Given the description of an element on the screen output the (x, y) to click on. 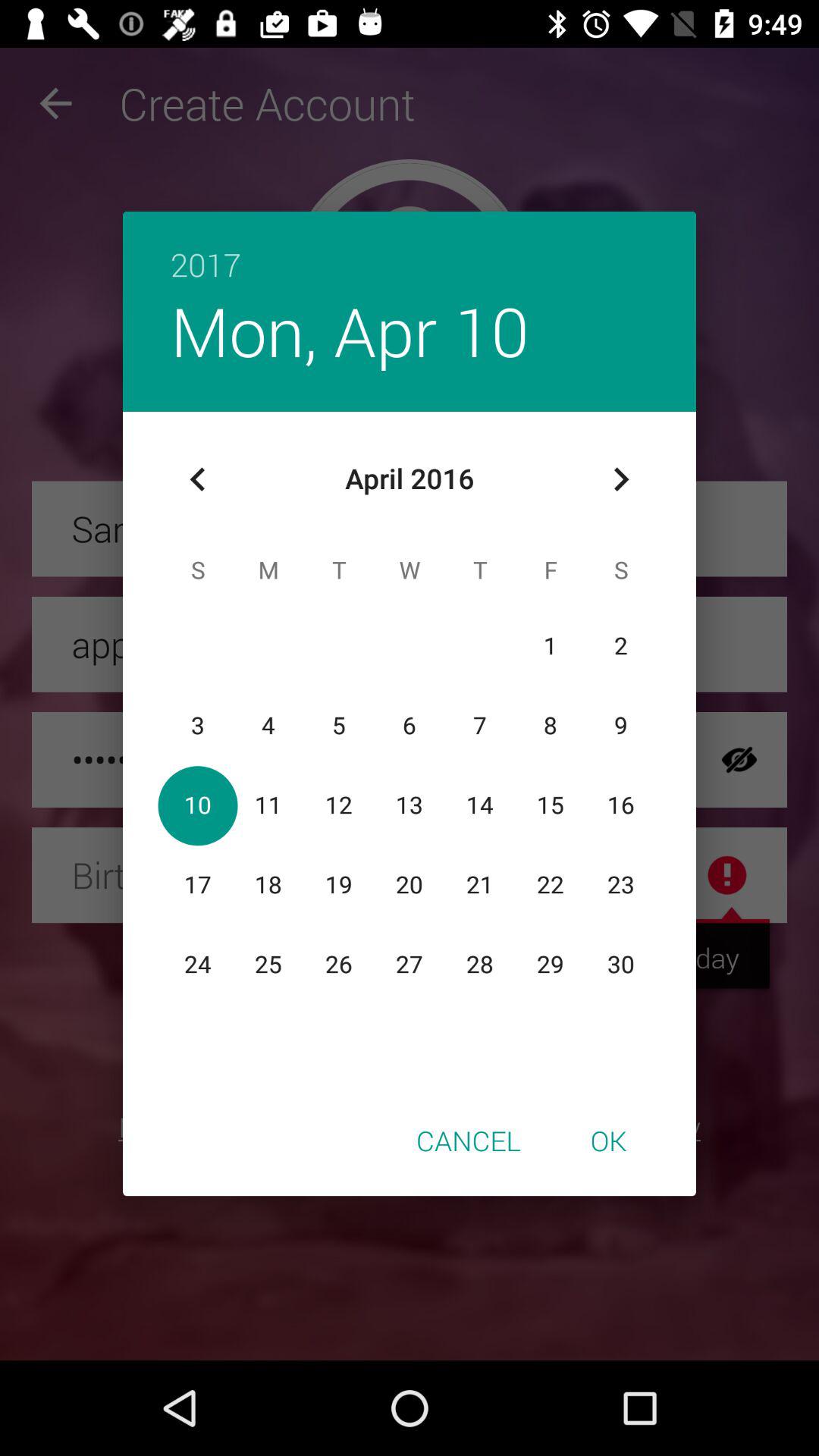
click cancel item (468, 1140)
